Given the description of an element on the screen output the (x, y) to click on. 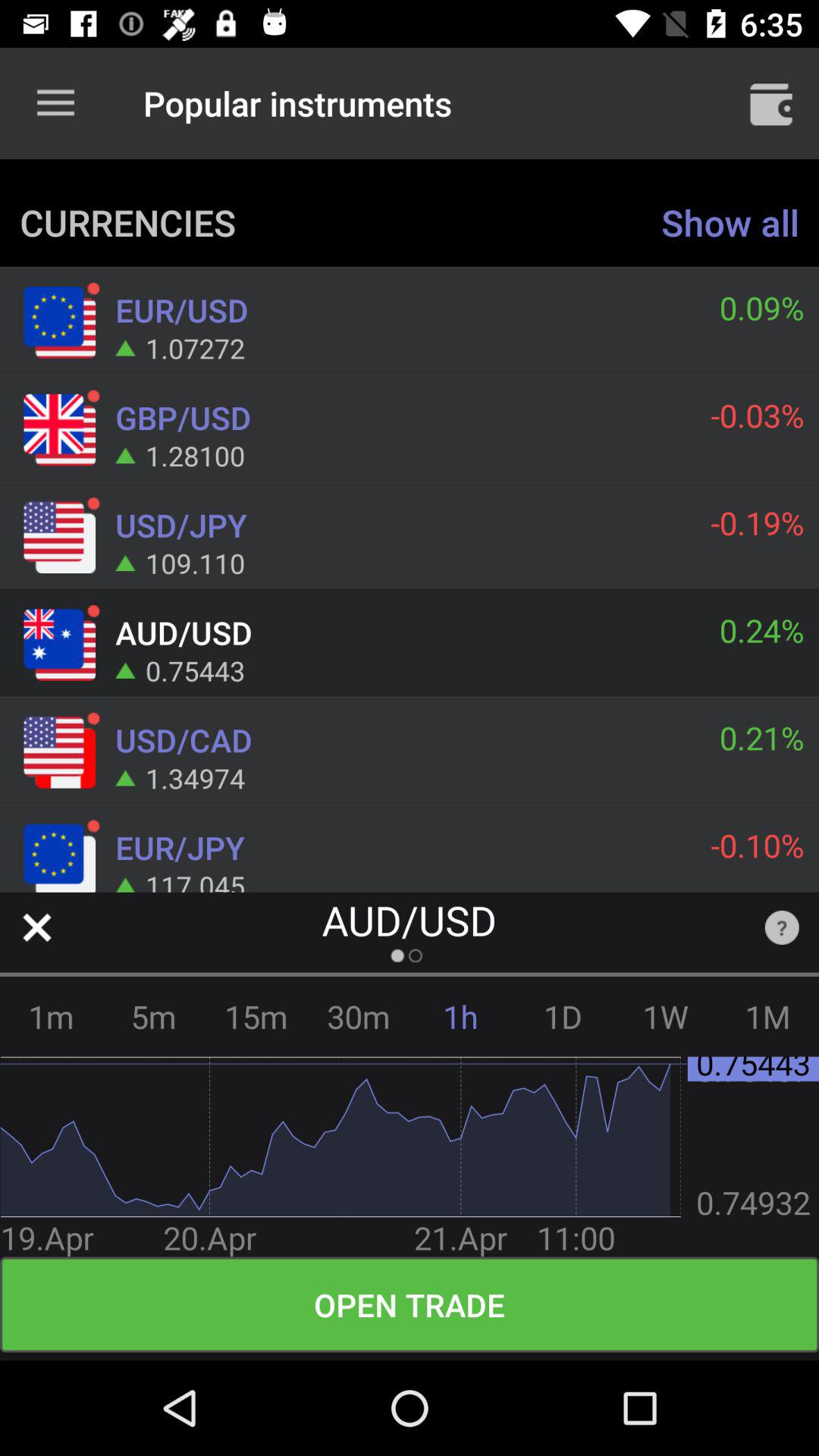
flip until 30m item (358, 1016)
